Given the description of an element on the screen output the (x, y) to click on. 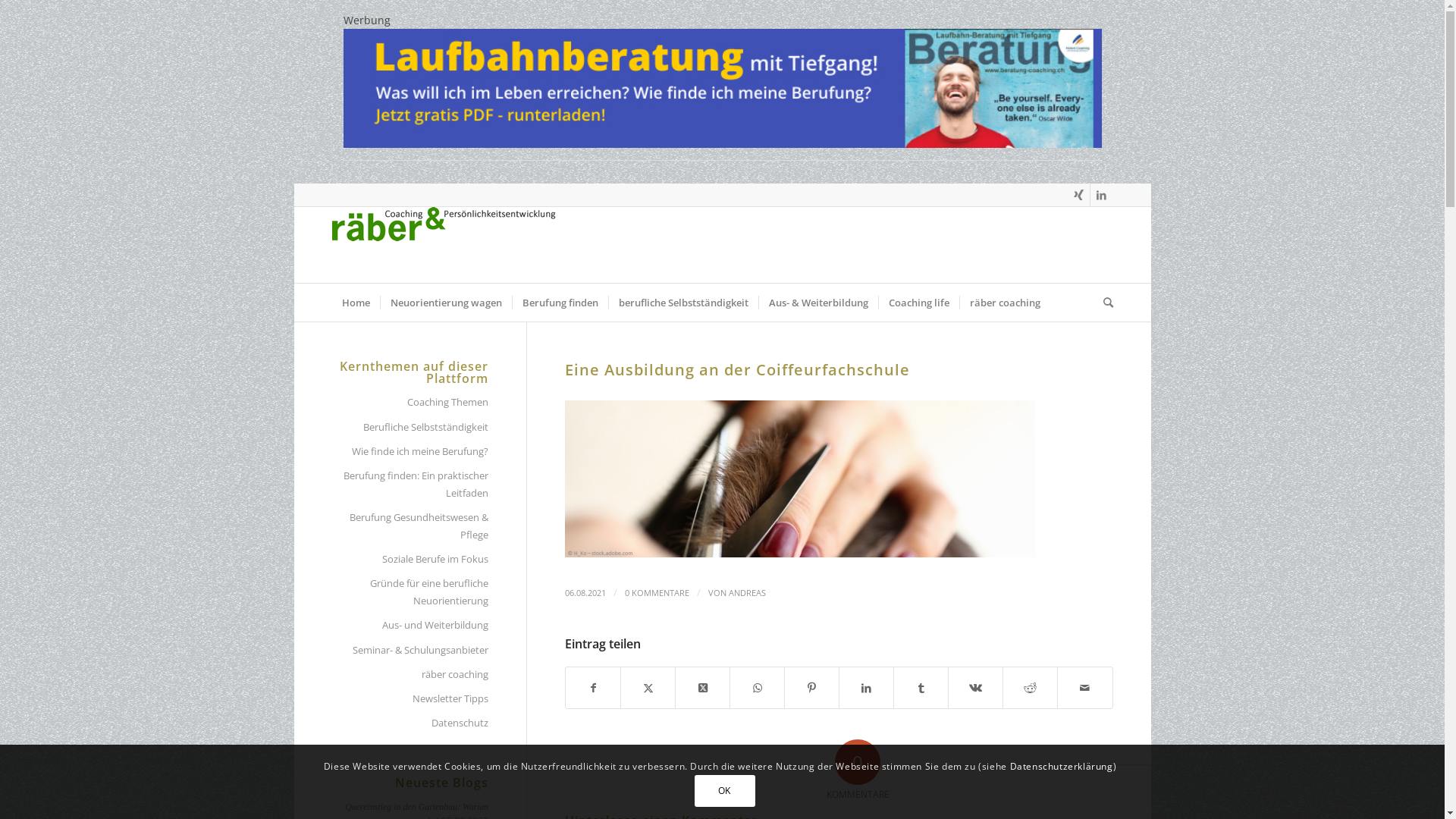
0 KOMMENTARE Element type: text (656, 592)
ANDREAS Element type: text (746, 592)
Berufung finden: Ein praktischer Leitfaden Element type: text (410, 484)
Berufung finden Element type: text (559, 302)
OK Element type: text (724, 790)
Seminar- & Schulungsanbieter Element type: text (410, 650)
Aus- und Weiterbildung Element type: text (410, 625)
Berufung Gesundheitswesen & Pflege Element type: text (410, 526)
Soziale Berufe im Fokus Element type: text (410, 559)
Neuorientierung wagen Element type: text (445, 302)
Coaching life Element type: text (918, 302)
Wie finde ich meine Berufung? Element type: text (410, 451)
Xing Element type: hover (1078, 194)
Home Element type: text (355, 302)
LinkedIn Element type: hover (1101, 194)
Aus- & Weiterbildung Element type: text (818, 302)
Newsletter Tipps Element type: text (410, 699)
Coaching Themen Element type: text (410, 402)
Datenschutz Element type: text (410, 723)
